Given the description of an element on the screen output the (x, y) to click on. 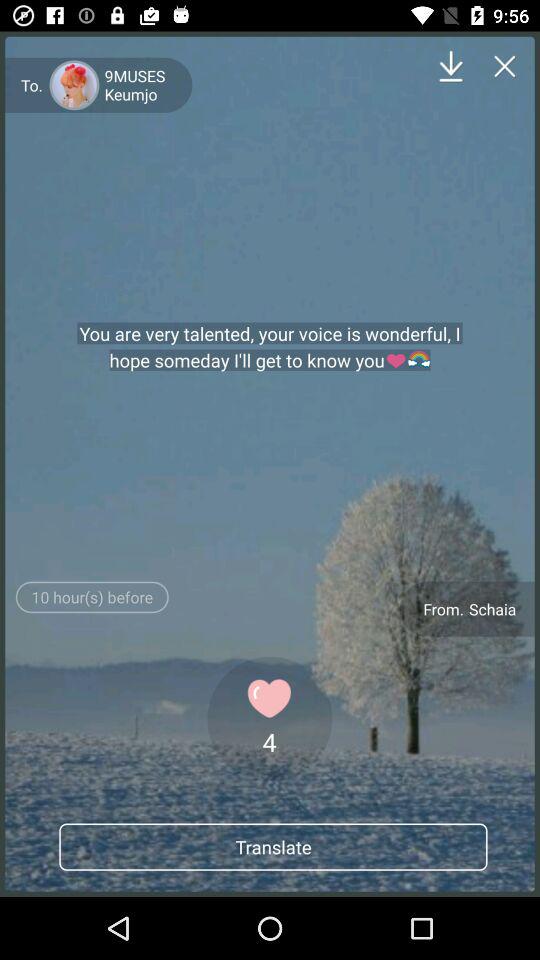
jump to the translate icon (273, 846)
